Given the description of an element on the screen output the (x, y) to click on. 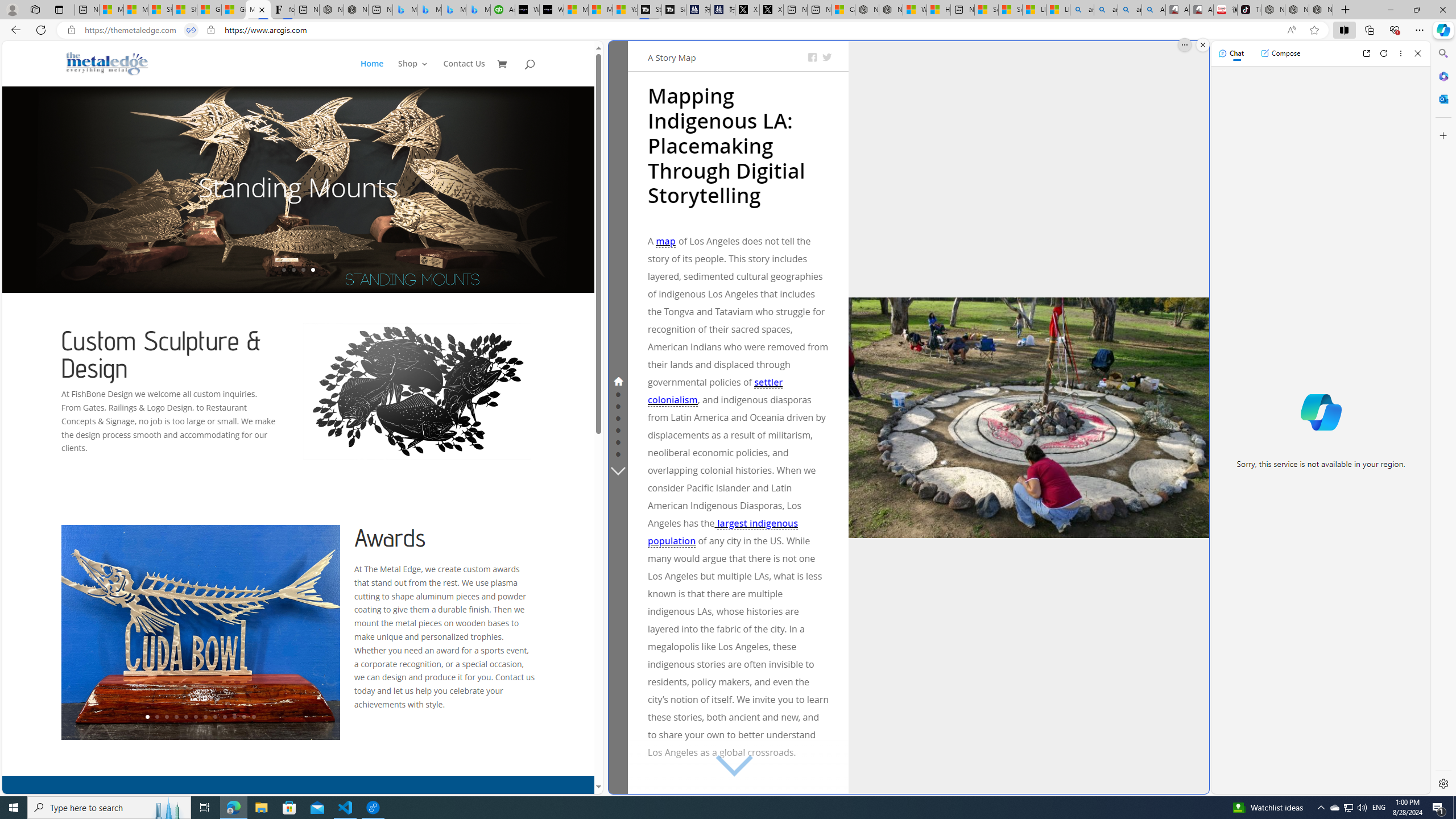
Class: scroll (728, 765)
Go to section 5: American Indians in Los Angeles  (617, 429)
Go to section 7: Latin American Indigenous Diasporas  (617, 453)
Add this page to favorites (Ctrl+D) (1314, 29)
Shop 3 (413, 72)
Shanghai, China weather forecast | Microsoft Weather (184, 9)
Microsoft Start Sports (575, 9)
App bar (728, 29)
11 (243, 716)
Back (13, 29)
6 (195, 716)
Outlook (1442, 98)
Microsoft Bing Travel - Stays in Bangkok, Bangkok, Thailand (429, 9)
